Given the description of an element on the screen output the (x, y) to click on. 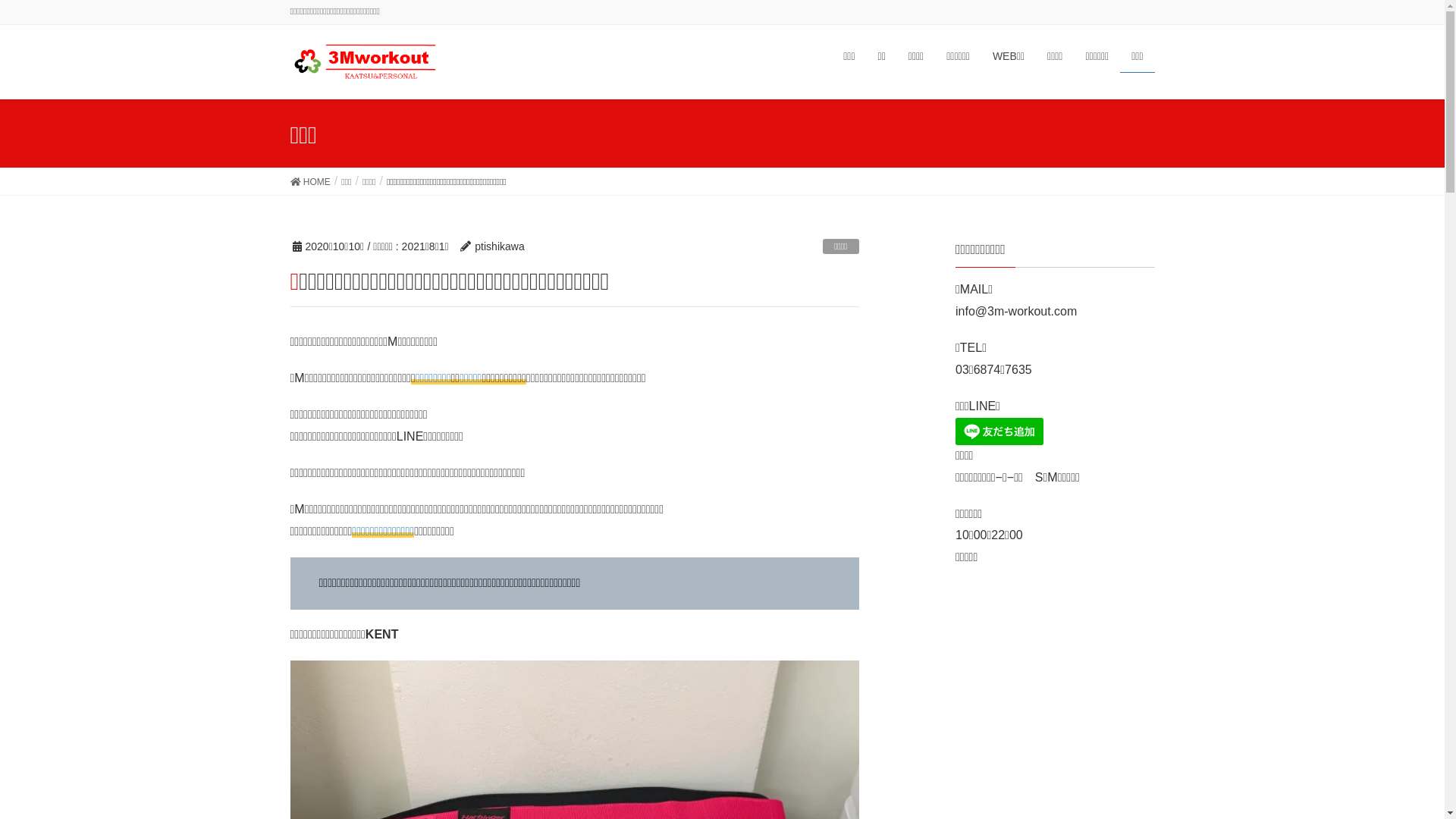
HOME Element type: text (309, 181)
